Given the description of an element on the screen output the (x, y) to click on. 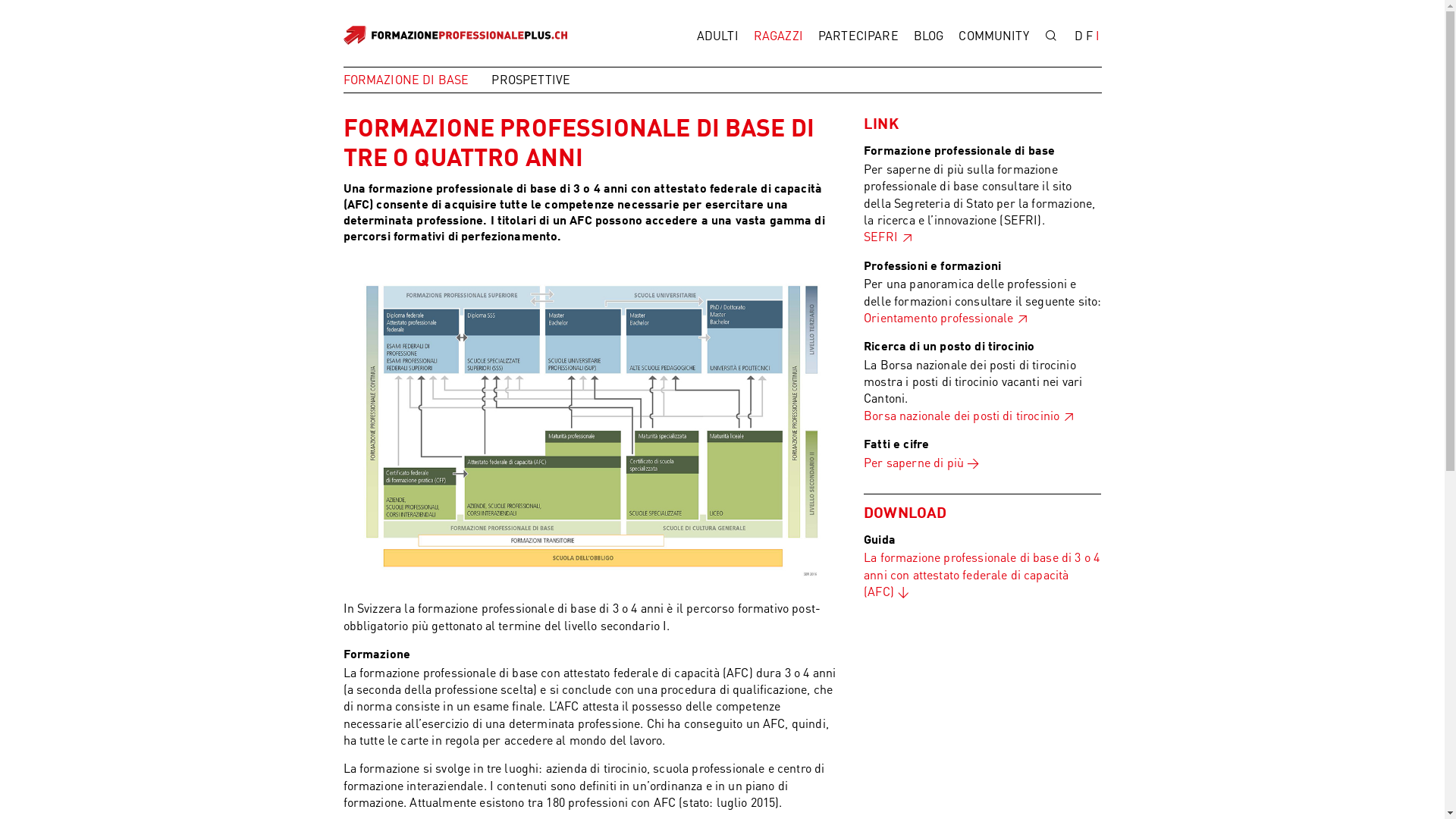
Suche Element type: hover (1050, 35)
D Element type: text (1078, 35)
PROSPETTIVE Element type: text (542, 79)
Orientamento professionale Element type: text (946, 317)
BLOG Element type: text (928, 35)
SEFRI Element type: text (888, 236)
ADULTI Element type: text (717, 35)
COMMUNITY Element type: text (992, 35)
Borsa nazionale dei posti di tirocinio Element type: text (968, 415)
berufsbildungplus.ch Element type: hover (461, 33)
F Element type: text (1089, 35)
FORMAZIONE DI BASE Element type: text (416, 79)
formazione, formazione continua, apprendistato Element type: hover (591, 420)
PARTECIPARE Element type: text (858, 35)
I Element type: text (1097, 35)
RAGAZZI Element type: text (778, 35)
